Given the description of an element on the screen output the (x, y) to click on. 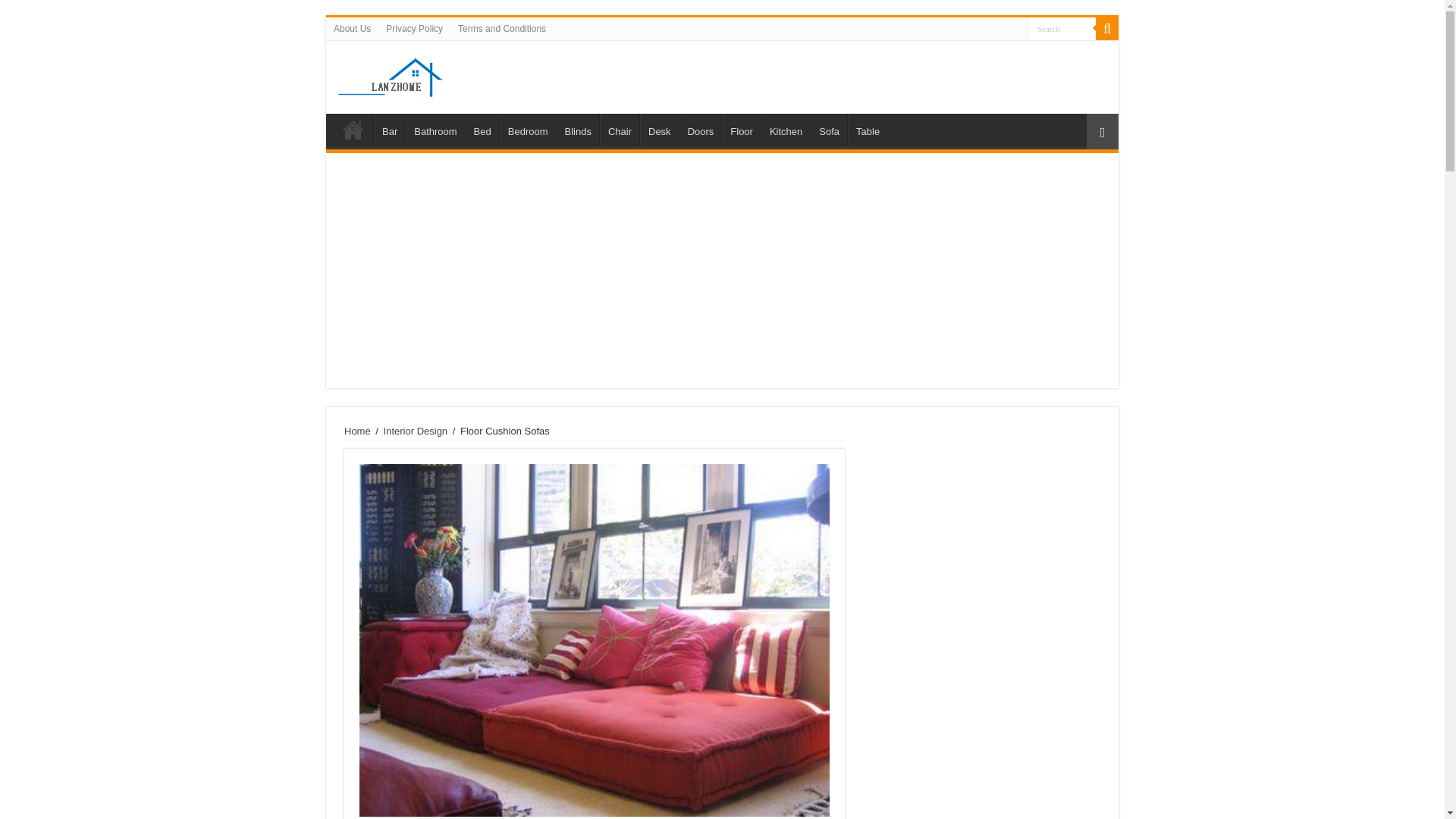
Desk (659, 129)
Doors (700, 129)
Search (1061, 28)
Interior Design (416, 430)
lanzhome.com (499, 74)
Sofa (828, 129)
Kitchen (785, 129)
Search (1107, 28)
Bathroom (435, 129)
Privacy Policy (413, 28)
Home (357, 430)
Chair (619, 129)
Search (1061, 28)
Bar (389, 129)
